Given the description of an element on the screen output the (x, y) to click on. 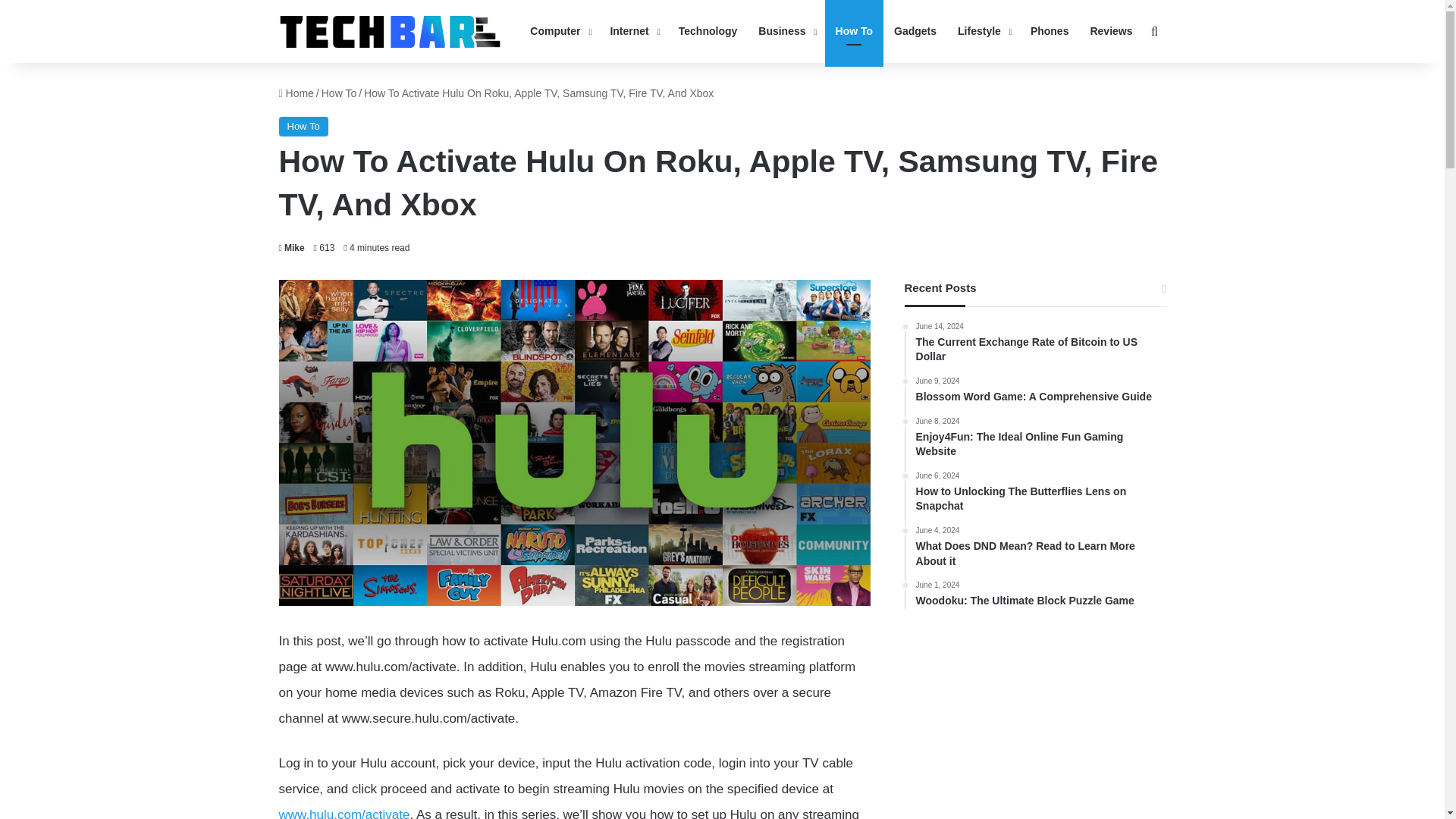
Mike (291, 247)
Reviews (1110, 31)
Technology (708, 31)
TechBar (389, 31)
How To (304, 126)
Phones (1050, 31)
Mike (291, 247)
Computer (558, 31)
How To (854, 31)
How To (338, 92)
Lifestyle (983, 31)
Home (296, 92)
Internet (632, 31)
Business (786, 31)
Gadgets (915, 31)
